Given the description of an element on the screen output the (x, y) to click on. 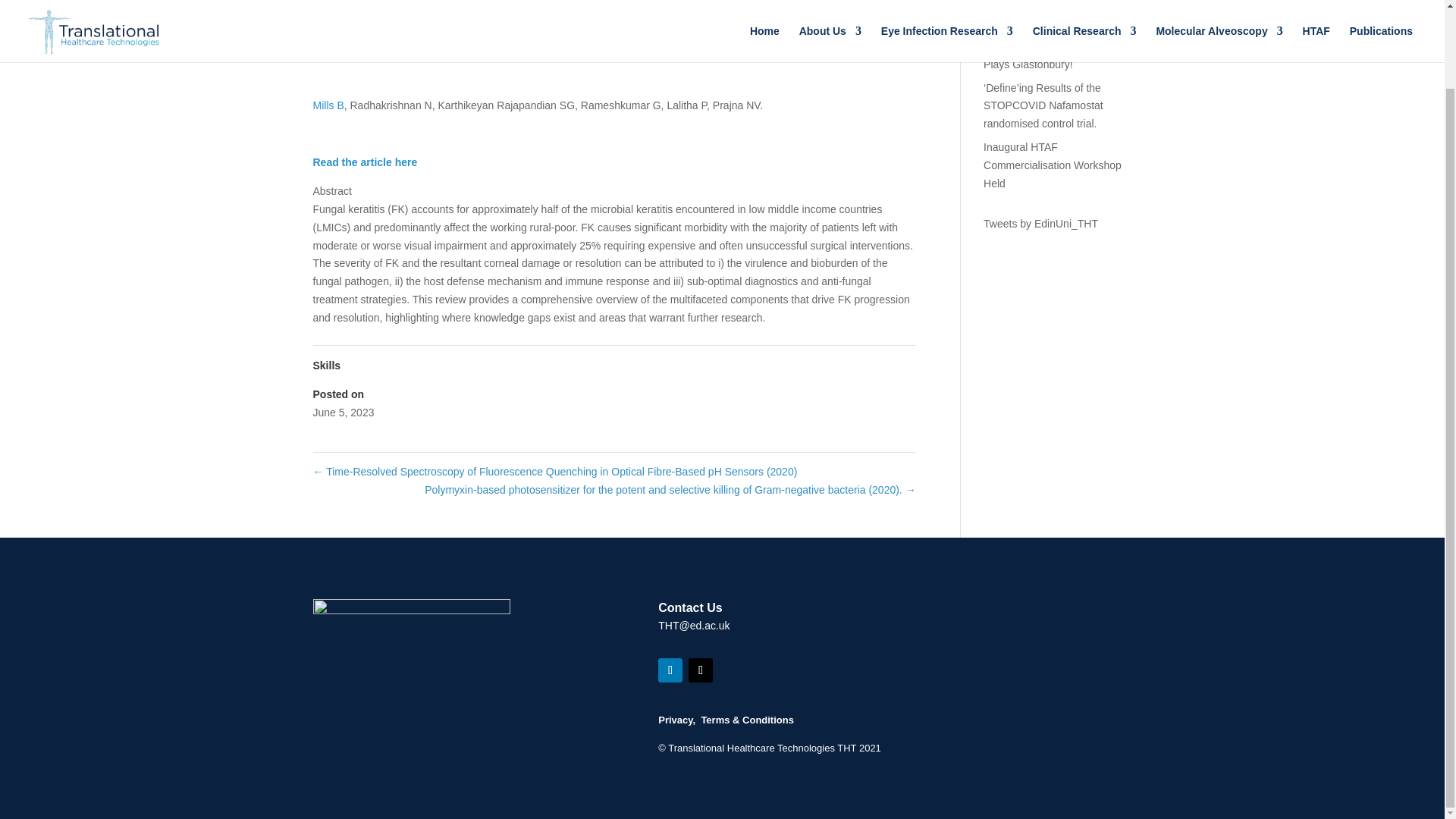
Follow on LinkedIn (670, 670)
Follow on X (700, 670)
Mills B (328, 105)
Fungi (368, 55)
Publications (416, 55)
The Robots are Coming: THT Plays Glastonbury! (1053, 55)
Eye-Infection Research (815, 31)
Inaugural HTAF Commercialisation Workshop Held (1052, 164)
Read the article here (364, 162)
2020 (742, 31)
